Given the description of an element on the screen output the (x, y) to click on. 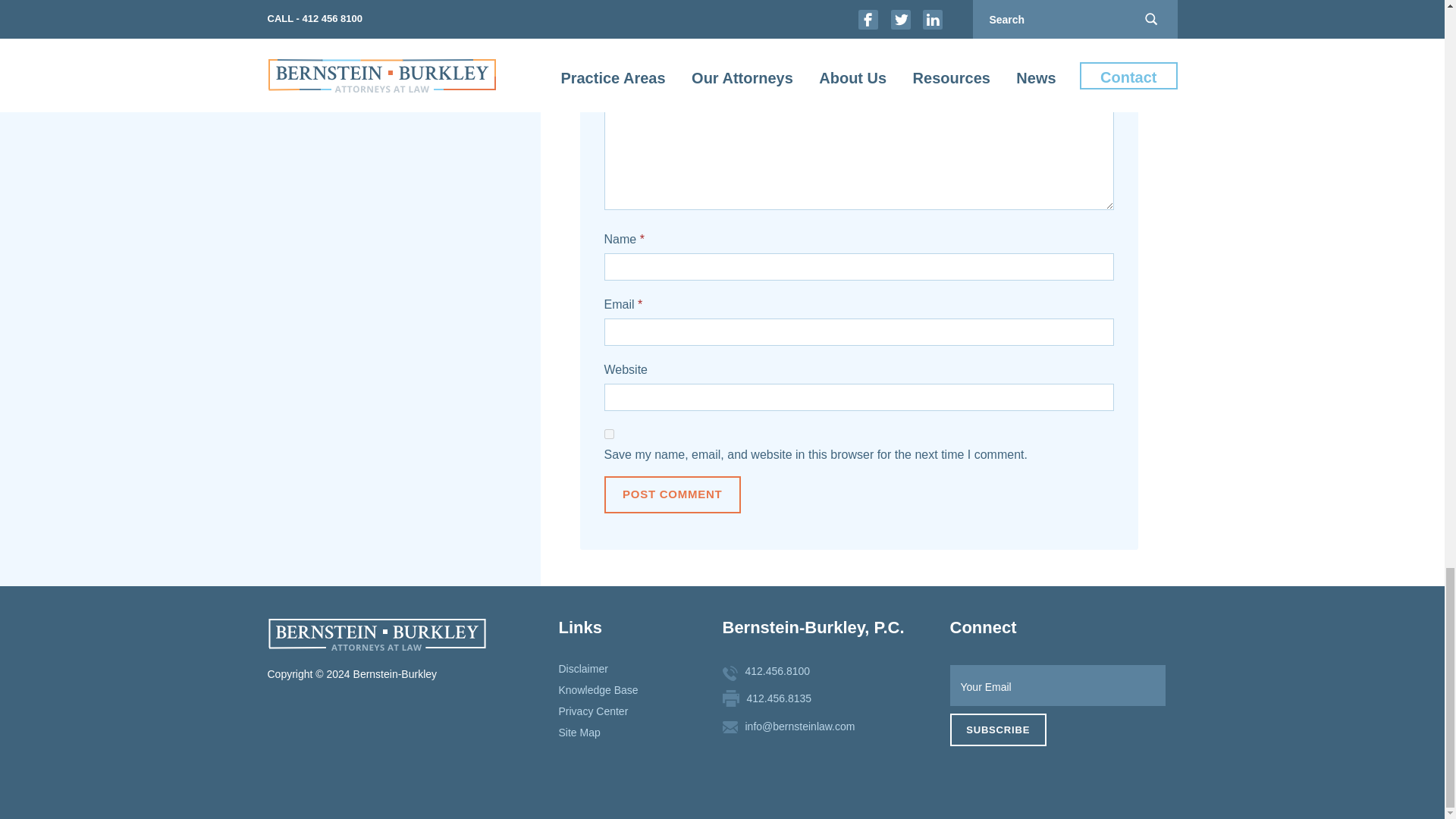
yes (608, 433)
Post Comment (672, 493)
Subscribe (997, 729)
